Given the description of an element on the screen output the (x, y) to click on. 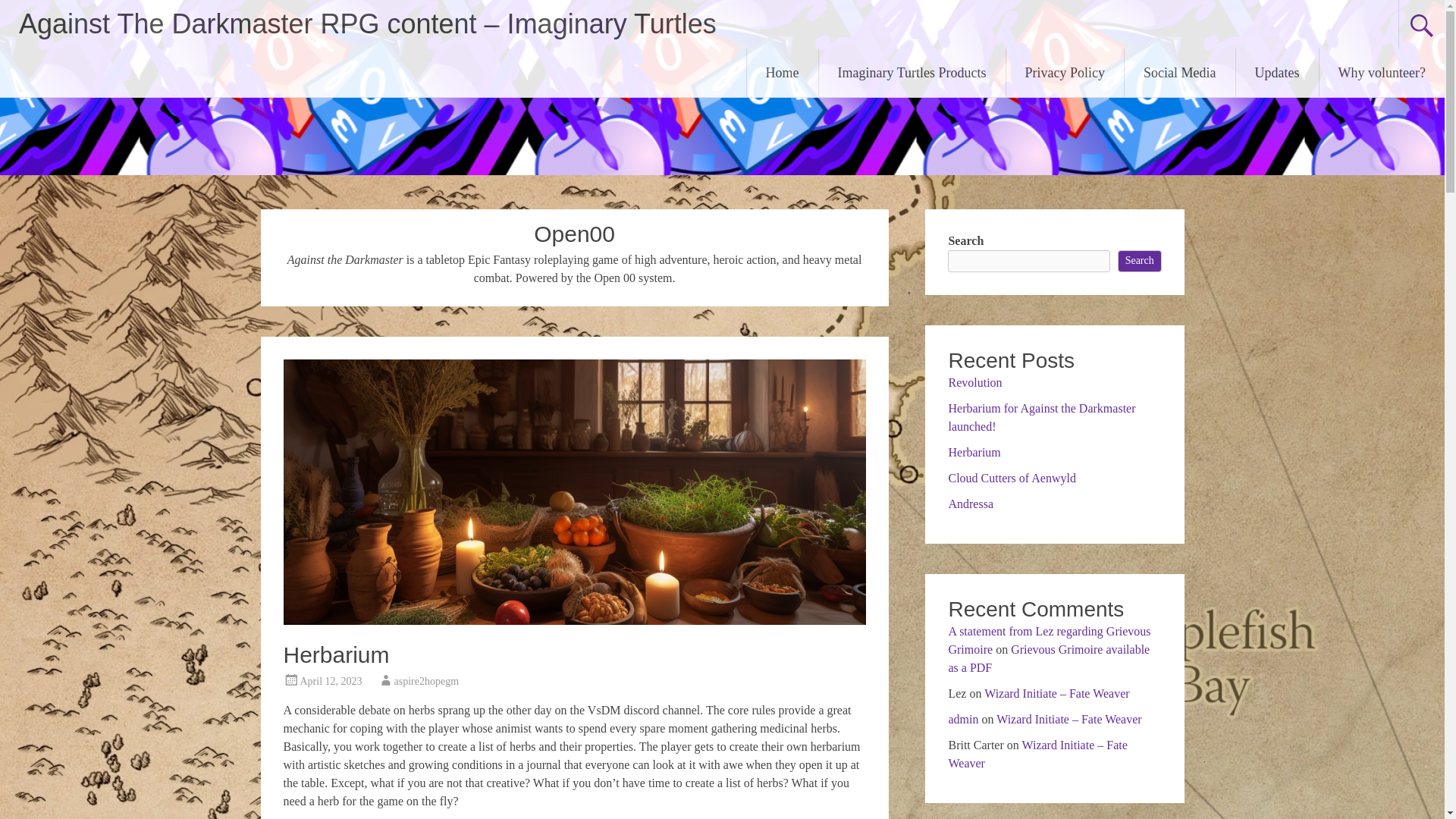
Herbarium (574, 620)
Herbarium (336, 654)
Updates (1277, 72)
Home (782, 72)
Social Media (1179, 72)
April 12, 2023 (330, 681)
Privacy Policy (1065, 72)
aspire2hopegm (427, 681)
Imaginary Turtles Products (912, 72)
